Given the description of an element on the screen output the (x, y) to click on. 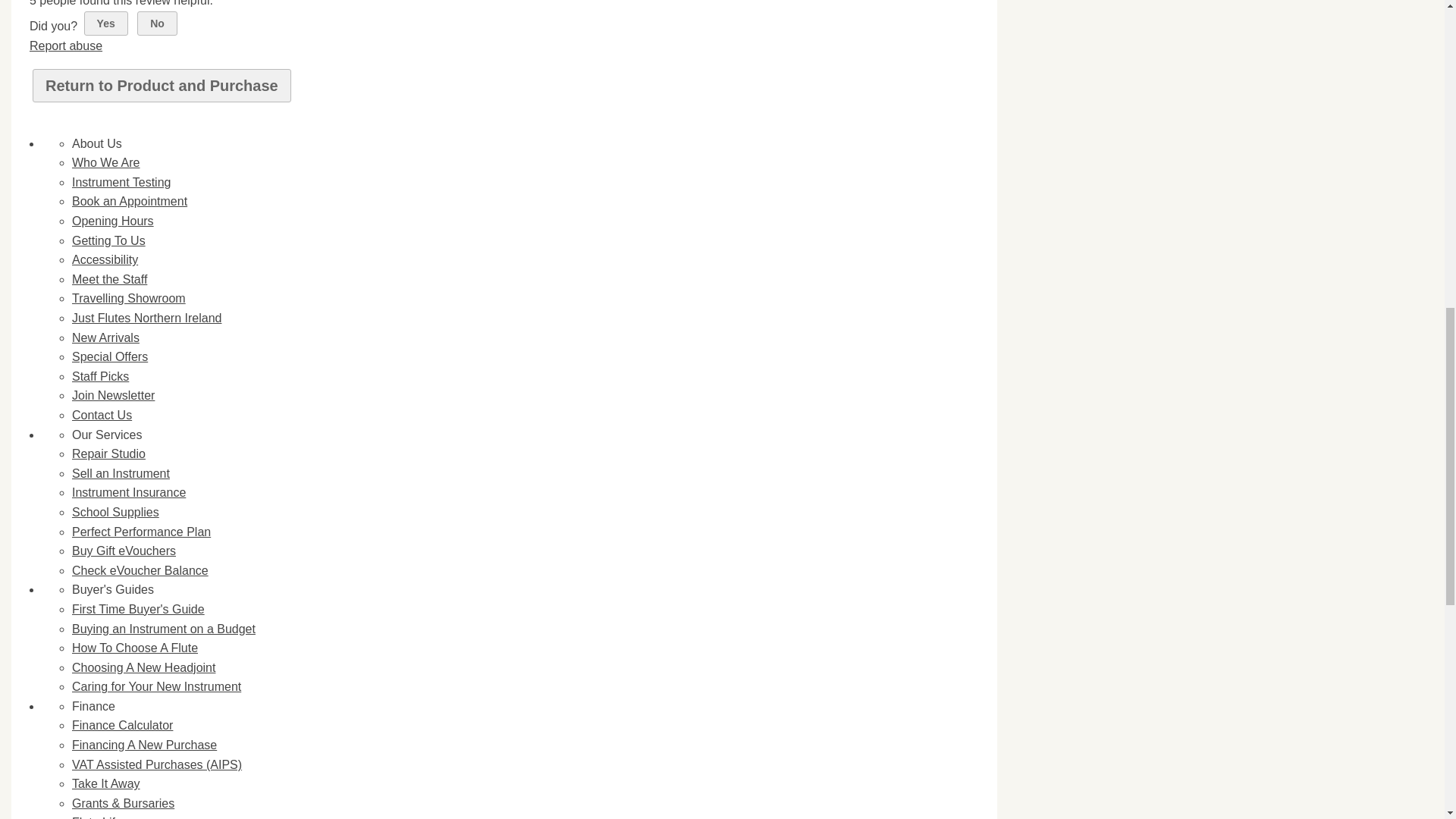
Return to Product and Purchase (161, 85)
Yes (106, 23)
No (156, 23)
Report abuse (65, 45)
